Given the description of an element on the screen output the (x, y) to click on. 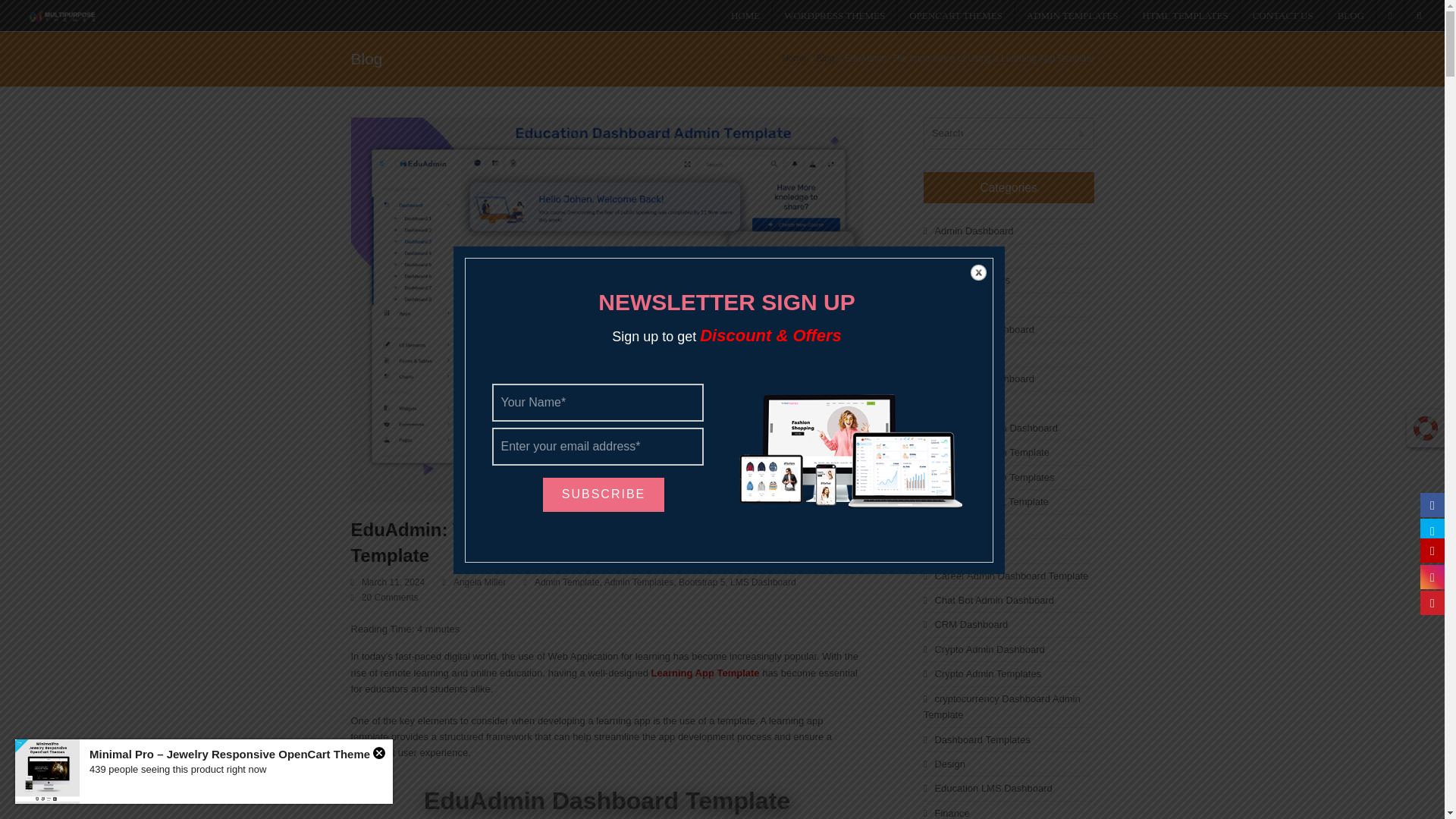
Subscribe (603, 494)
LMS Dashboard (763, 582)
ADMIN TEMPLATES (1071, 17)
Admin Templates (639, 582)
BLOG (1349, 17)
Blog (824, 58)
Bootstrap 5 (701, 582)
20 Comments (383, 598)
20 Comments (390, 597)
Learning App Template (705, 672)
Posts by Angela Miller (478, 582)
Home (793, 58)
HTML TEMPLATES (1184, 17)
CONTACT US (1282, 17)
Angela Miller (478, 582)
